Given the description of an element on the screen output the (x, y) to click on. 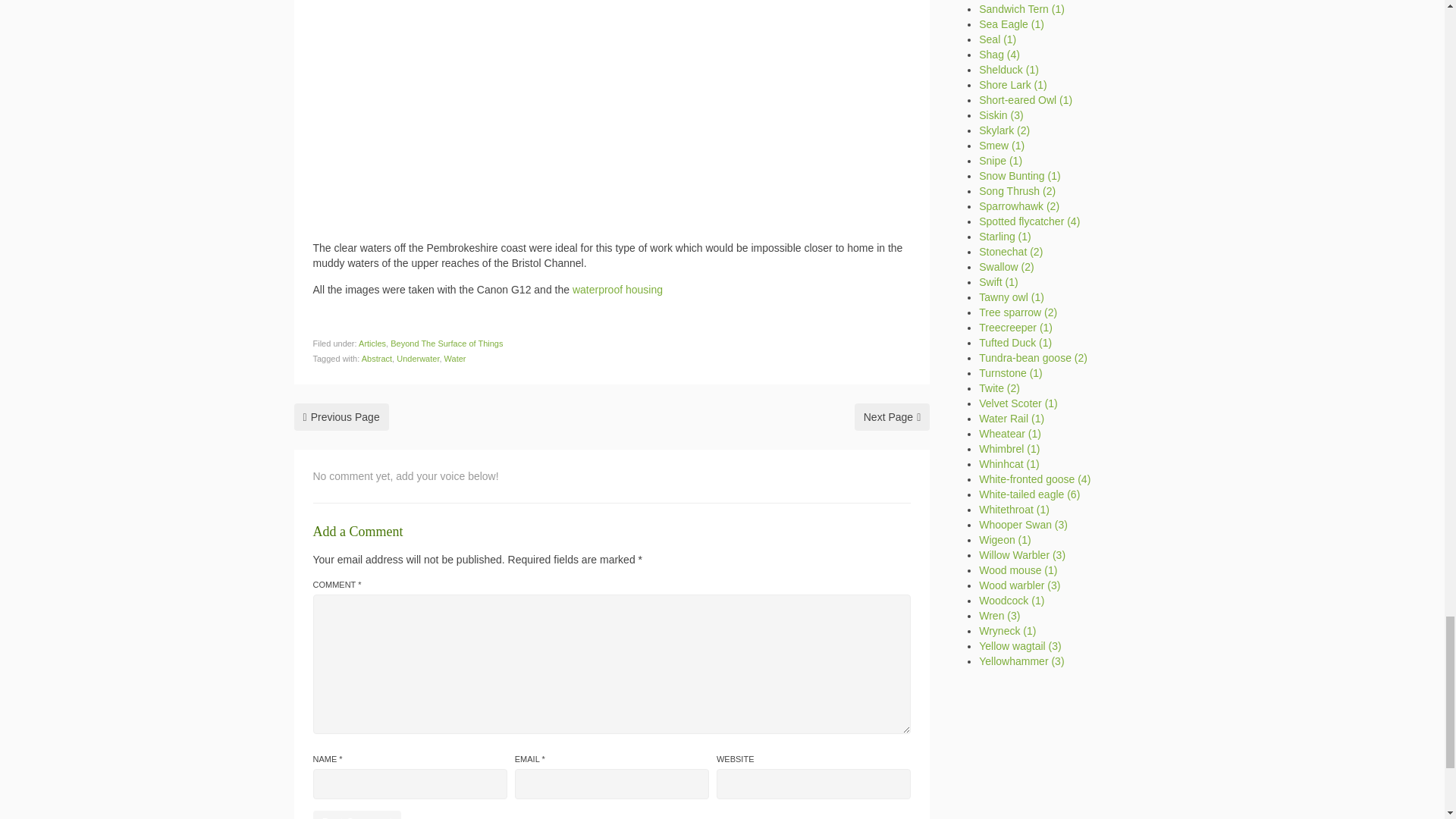
Next Page (892, 416)
Echoes of Conrad Lorenz (892, 416)
Post Comment (357, 814)
Articles (371, 343)
Underwater (417, 358)
Abstract (376, 358)
Previous Page (341, 416)
waterproof housing (617, 289)
Water (454, 358)
Red Squirrels at Formby Point (341, 416)
Beyond The Surface of Things (446, 343)
